Given the description of an element on the screen output the (x, y) to click on. 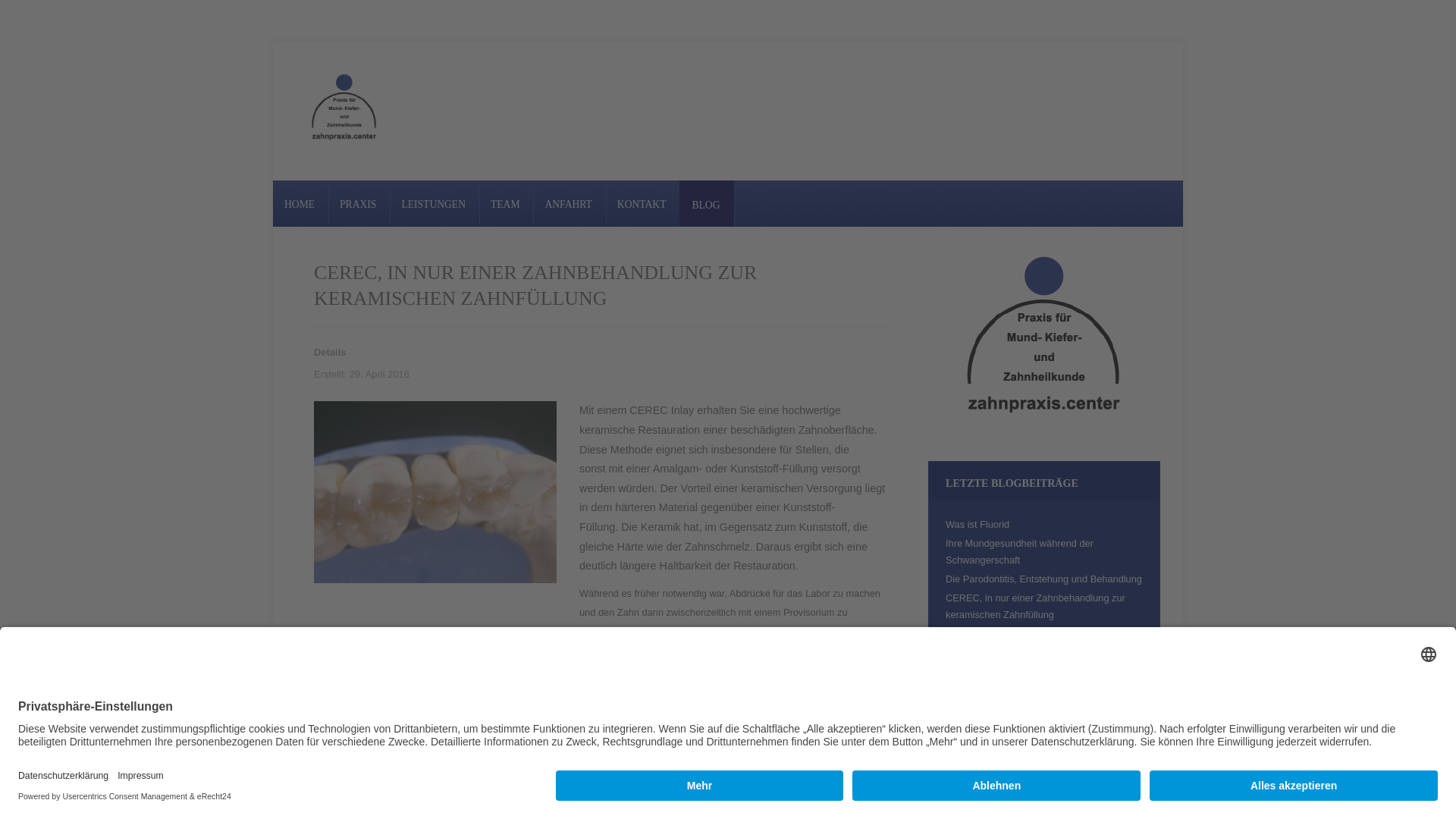
Was ist Fluorid Element type: text (977, 524)
LEISTUNGEN Element type: text (433, 204)
Vorsorge und Prophylaxe Element type: text (999, 753)
HOME Element type: text (299, 204)
TEAM Element type: text (505, 204)
www.nureinebehandlung.de/zahnpraxis-center Element type: text (425, 762)
PRAXIS Element type: text (357, 204)
Chirurgische Behandlungen Element type: text (1005, 771)
Vorsorge bei Kindern und Jugendlichen Element type: text (1029, 633)
Die Parodontitis, Entstehung und Behandlung Element type: text (1043, 578)
Allgemeine Zahnmedizin Element type: text (998, 734)
ANFAHRT Element type: text (567, 204)
KONTAKT Element type: text (641, 204)
BLOG Element type: text (705, 204)
